Given the description of an element on the screen output the (x, y) to click on. 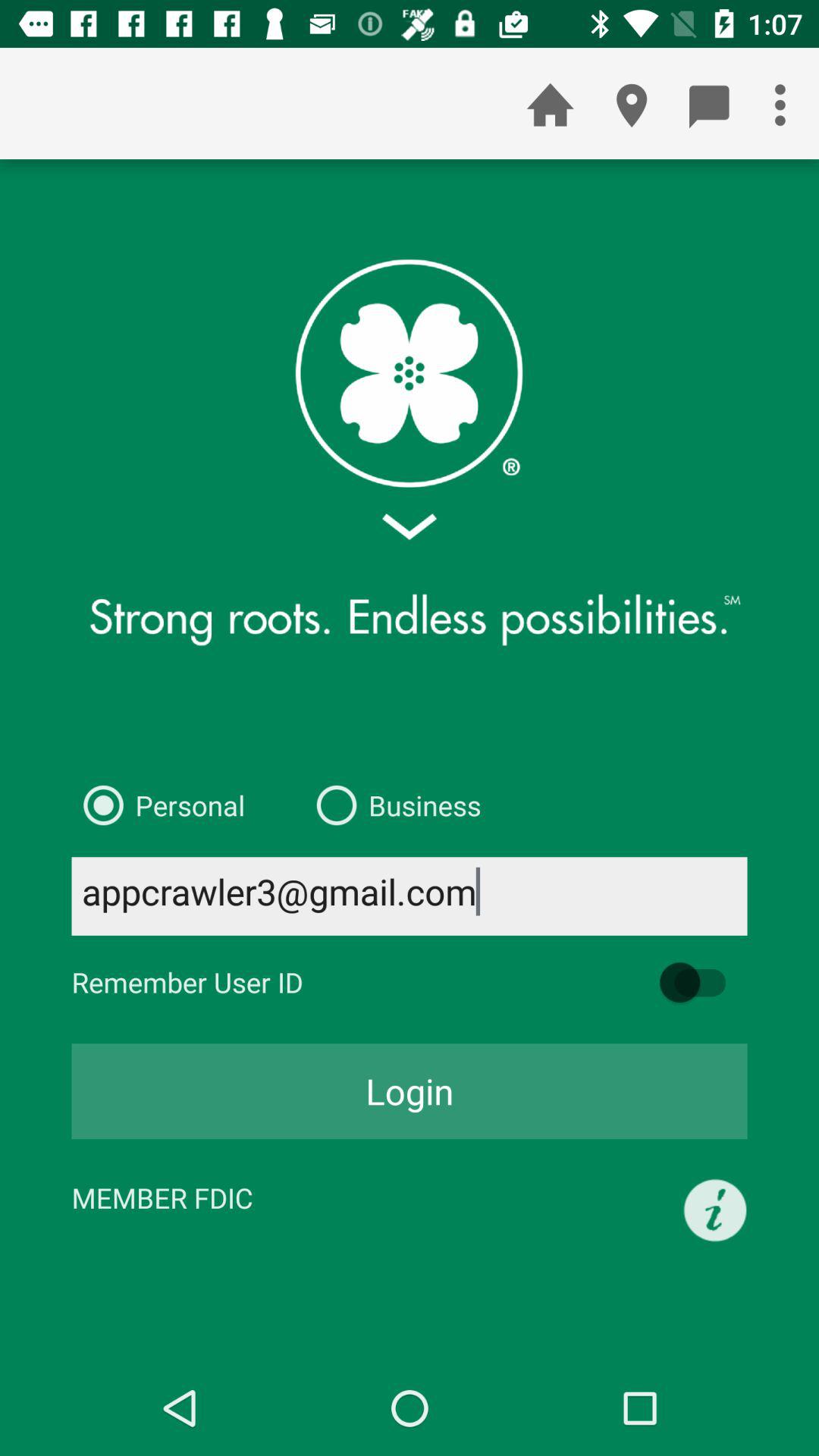
toggle remember id (699, 982)
